Given the description of an element on the screen output the (x, y) to click on. 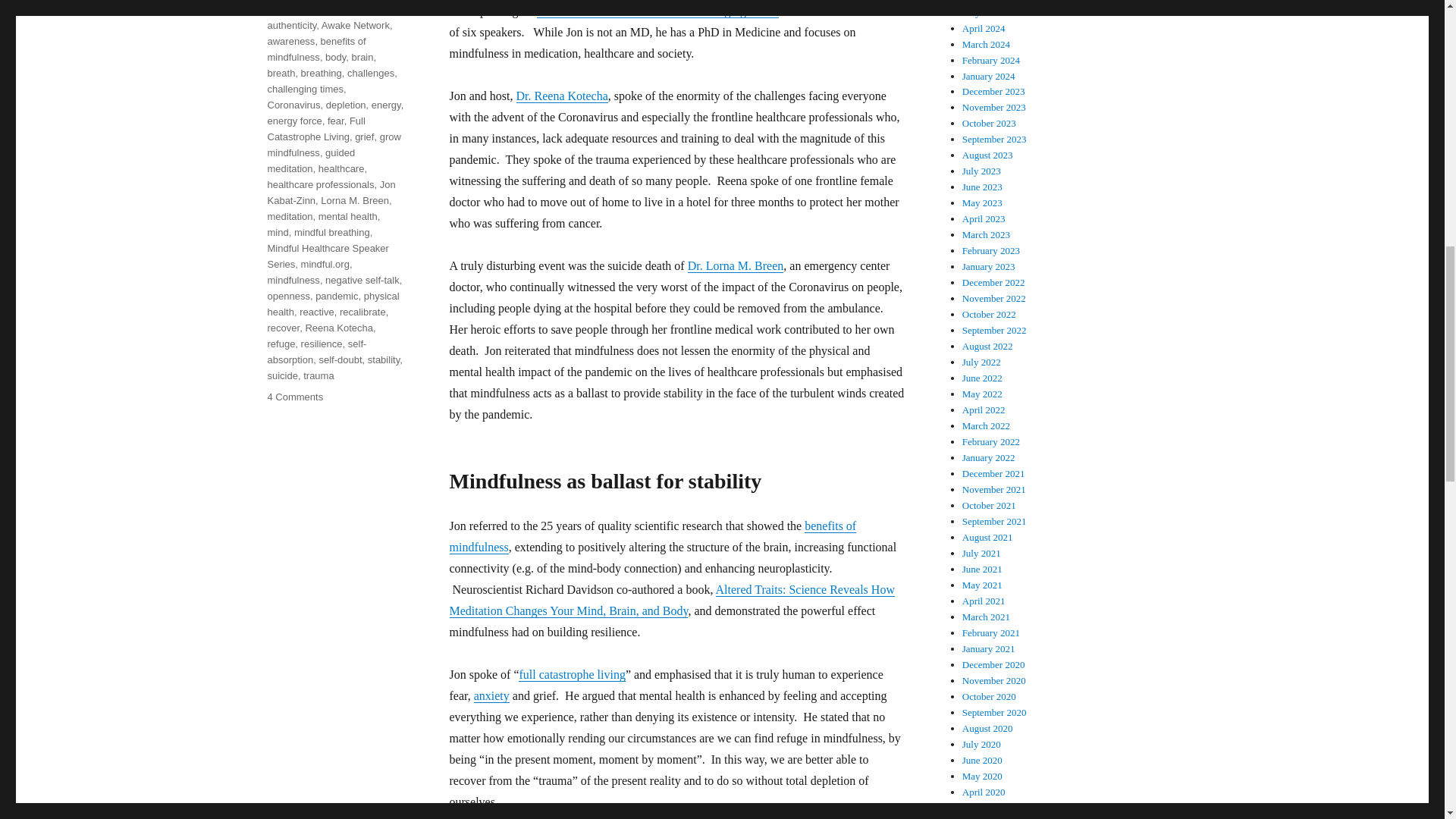
energy (386, 104)
Dr. Lorna M. Breen (735, 265)
breath (280, 72)
benefits of mindfulness (315, 49)
Coronavirus (293, 104)
Dr. Reena Kotecha (561, 95)
Awake Network (355, 25)
depletion (346, 104)
anxiety (491, 695)
Mindfulness and Resilience in Challenging Times (657, 10)
challenging times (304, 89)
benefits of mindfulness (652, 536)
full catastrophe living (571, 674)
brain (363, 57)
breathing (321, 72)
